Given the description of an element on the screen output the (x, y) to click on. 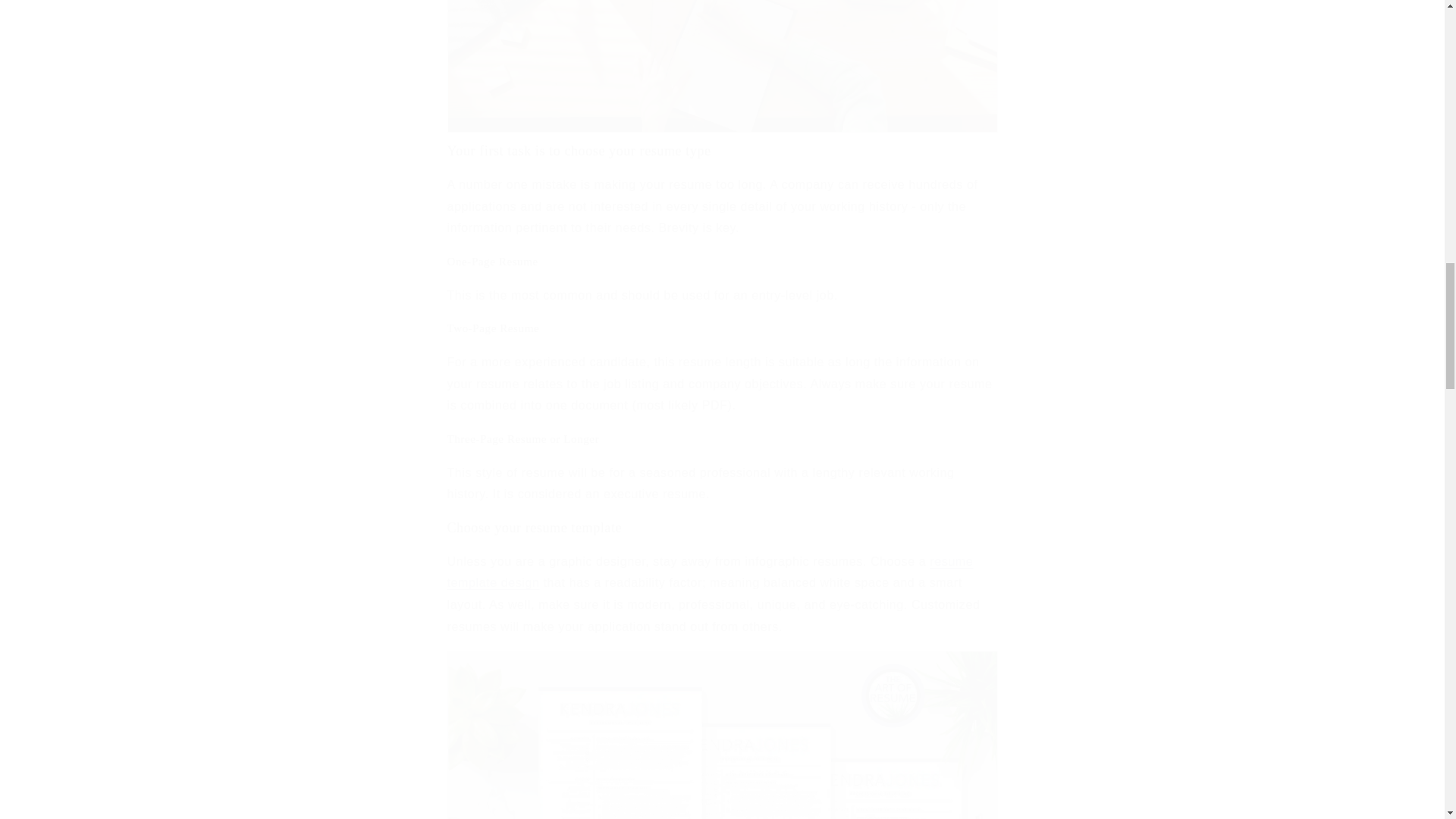
Resume Template Designs (710, 572)
